Given the description of an element on the screen output the (x, y) to click on. 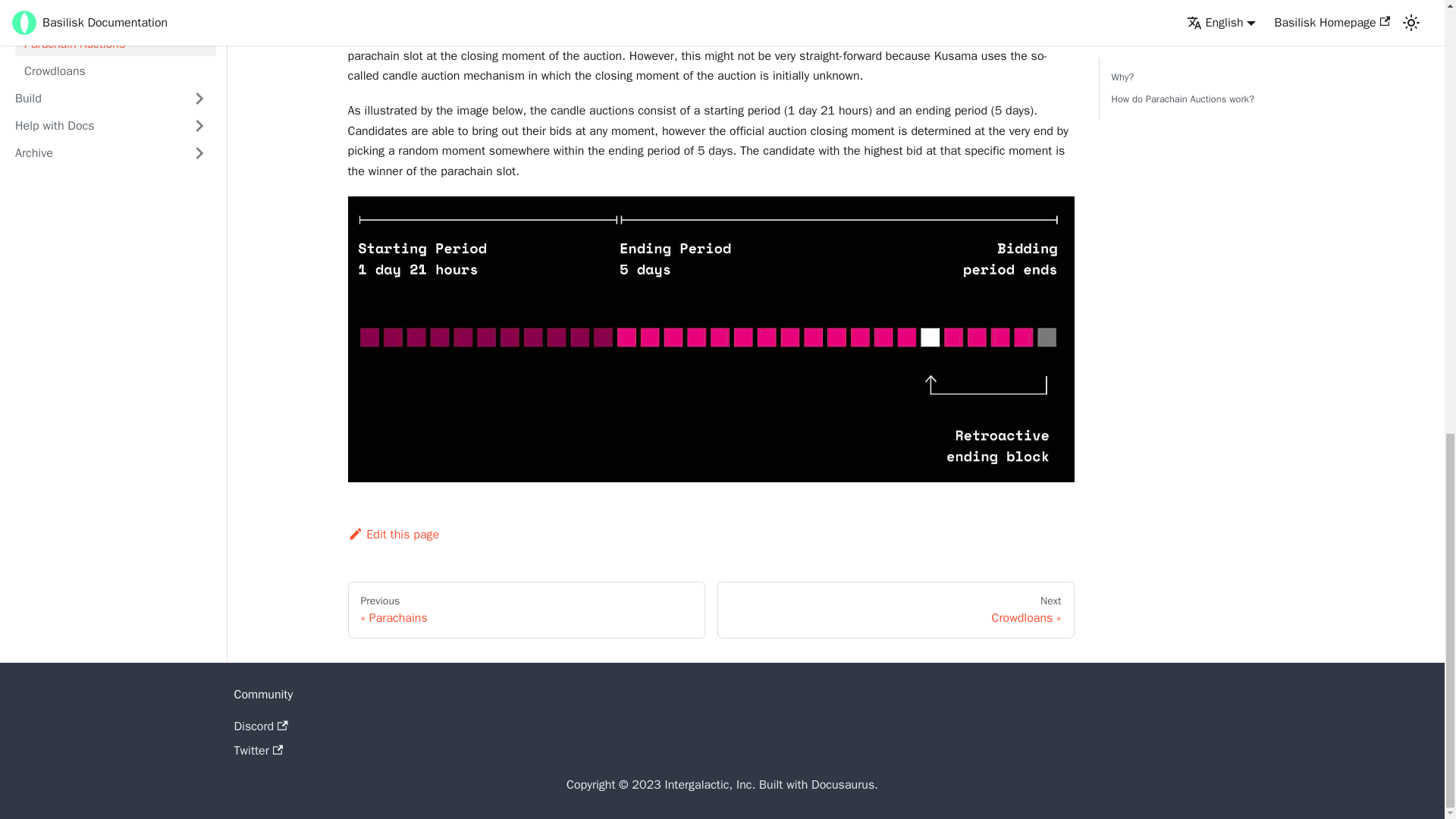
Discord (259, 726)
Twitter (895, 609)
Edit this page (257, 750)
